Given the description of an element on the screen output the (x, y) to click on. 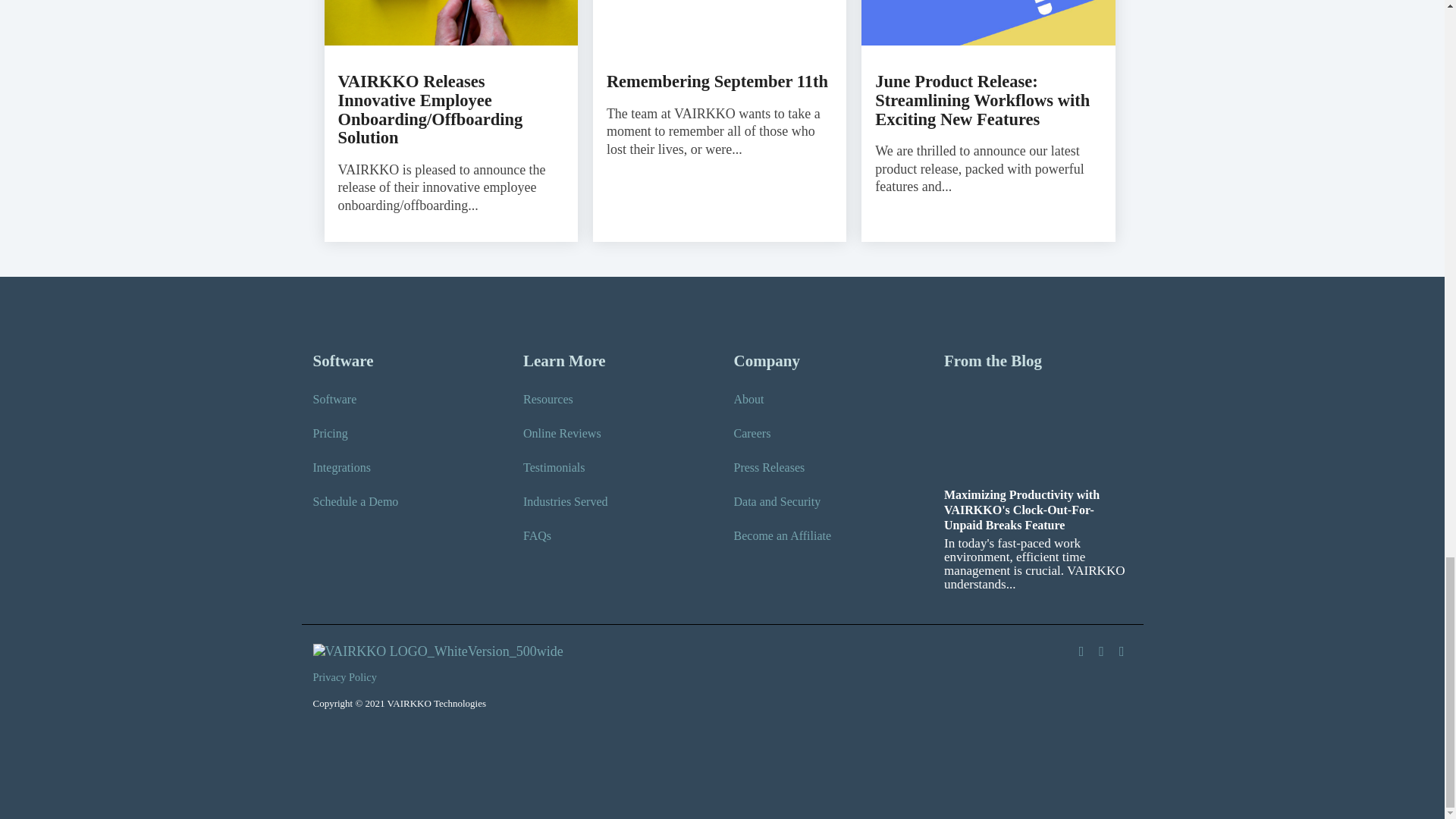
Press Releases (769, 467)
FAQs (536, 535)
Integrations (341, 467)
About (748, 399)
Data and Security (777, 501)
Resources (547, 399)
Pricing (330, 433)
Privacy Policy (348, 677)
